Given the description of an element on the screen output the (x, y) to click on. 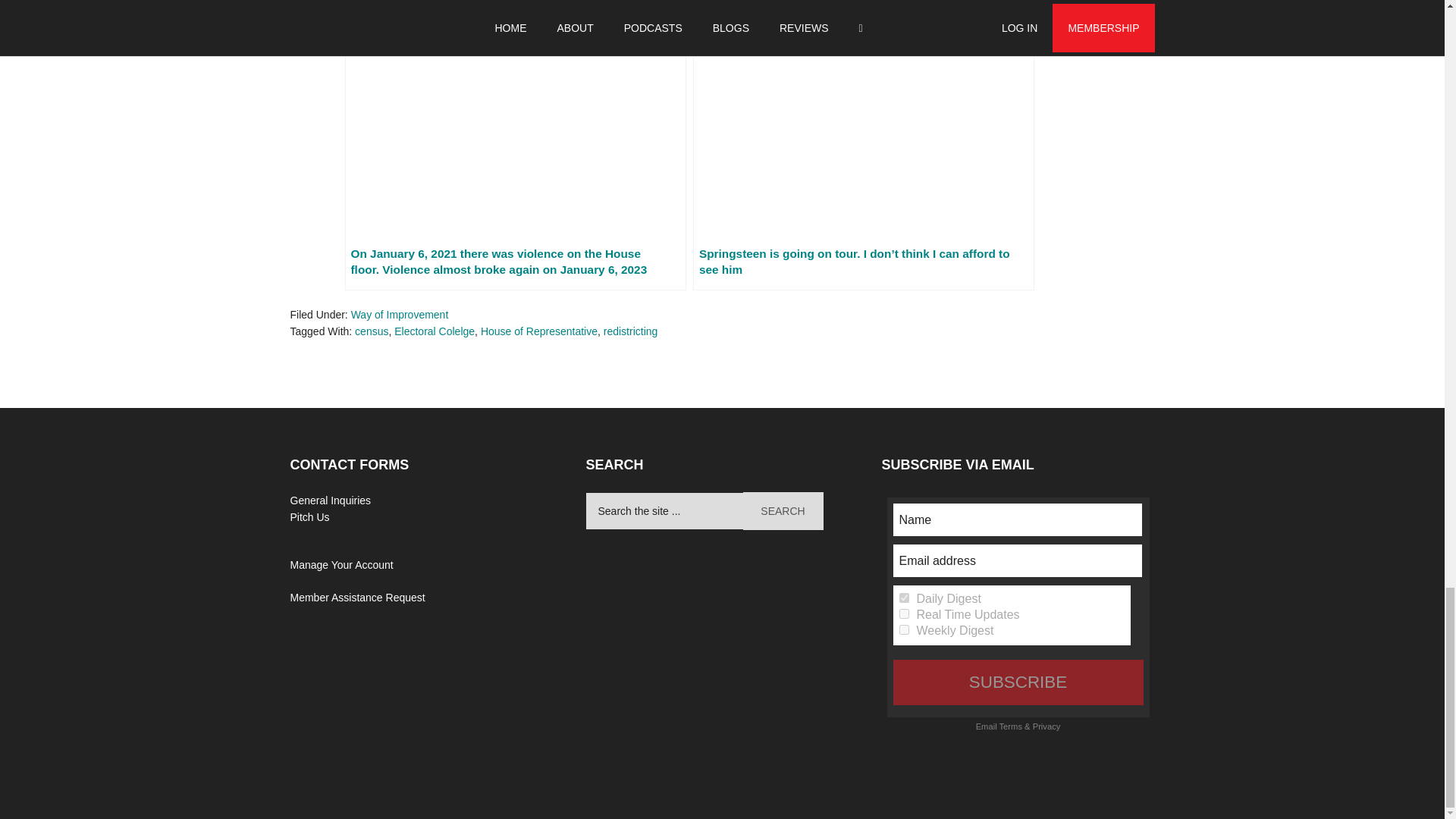
General Inquiries (330, 500)
Search (783, 510)
SUBSCRIBE (1017, 682)
Email subscriptions terms of service (1010, 726)
Electoral Colelge (434, 331)
Frequency (903, 597)
Name (1017, 519)
Manage Your Account (341, 564)
redistricting (631, 331)
census (371, 331)
Frequency (903, 629)
House of Representative (538, 331)
1122541 (903, 629)
